Given the description of an element on the screen output the (x, y) to click on. 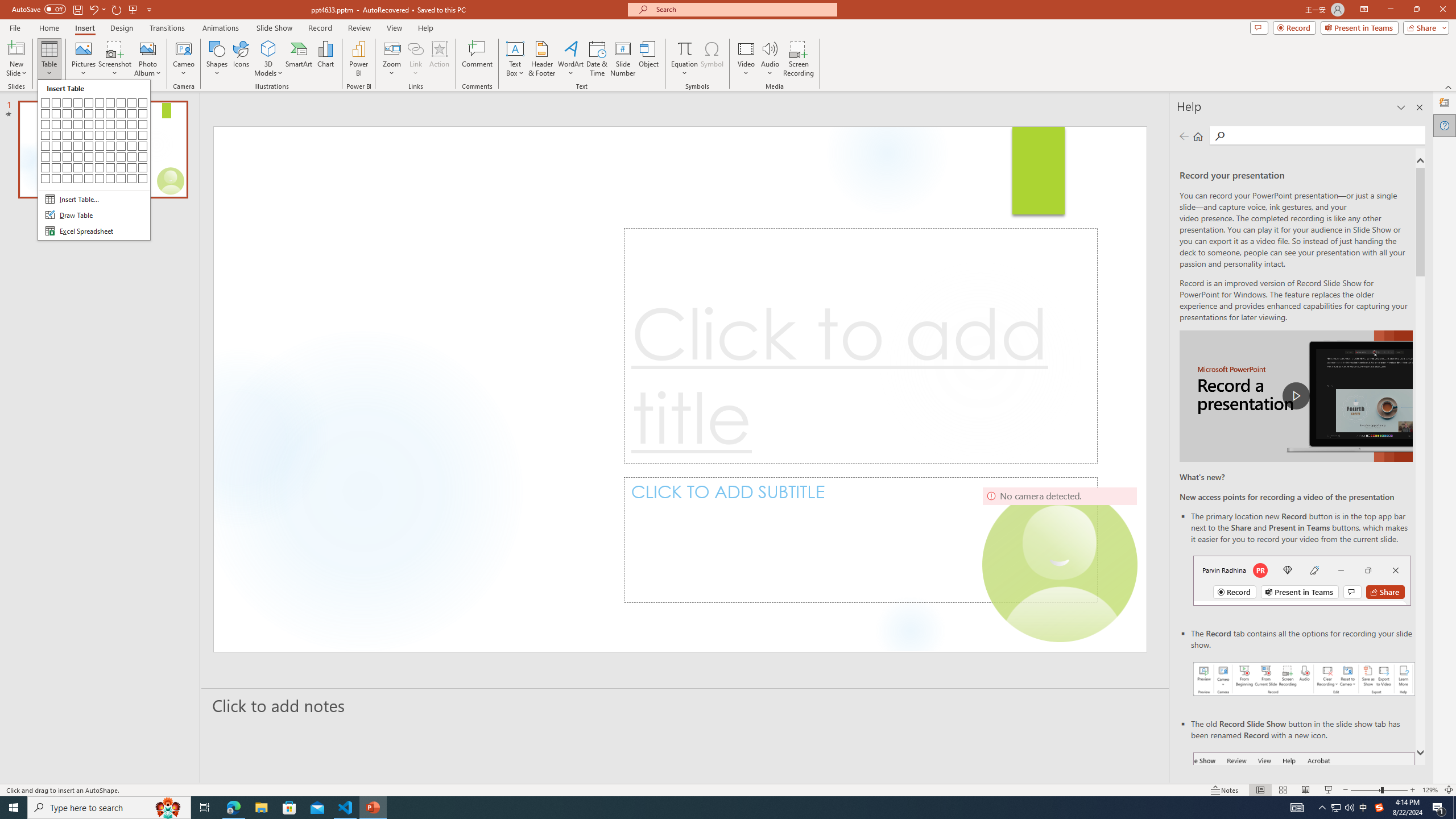
Draw Horizontal Text Box (515, 48)
Record button in top bar (1301, 580)
Icons (240, 58)
